Given the description of an element on the screen output the (x, y) to click on. 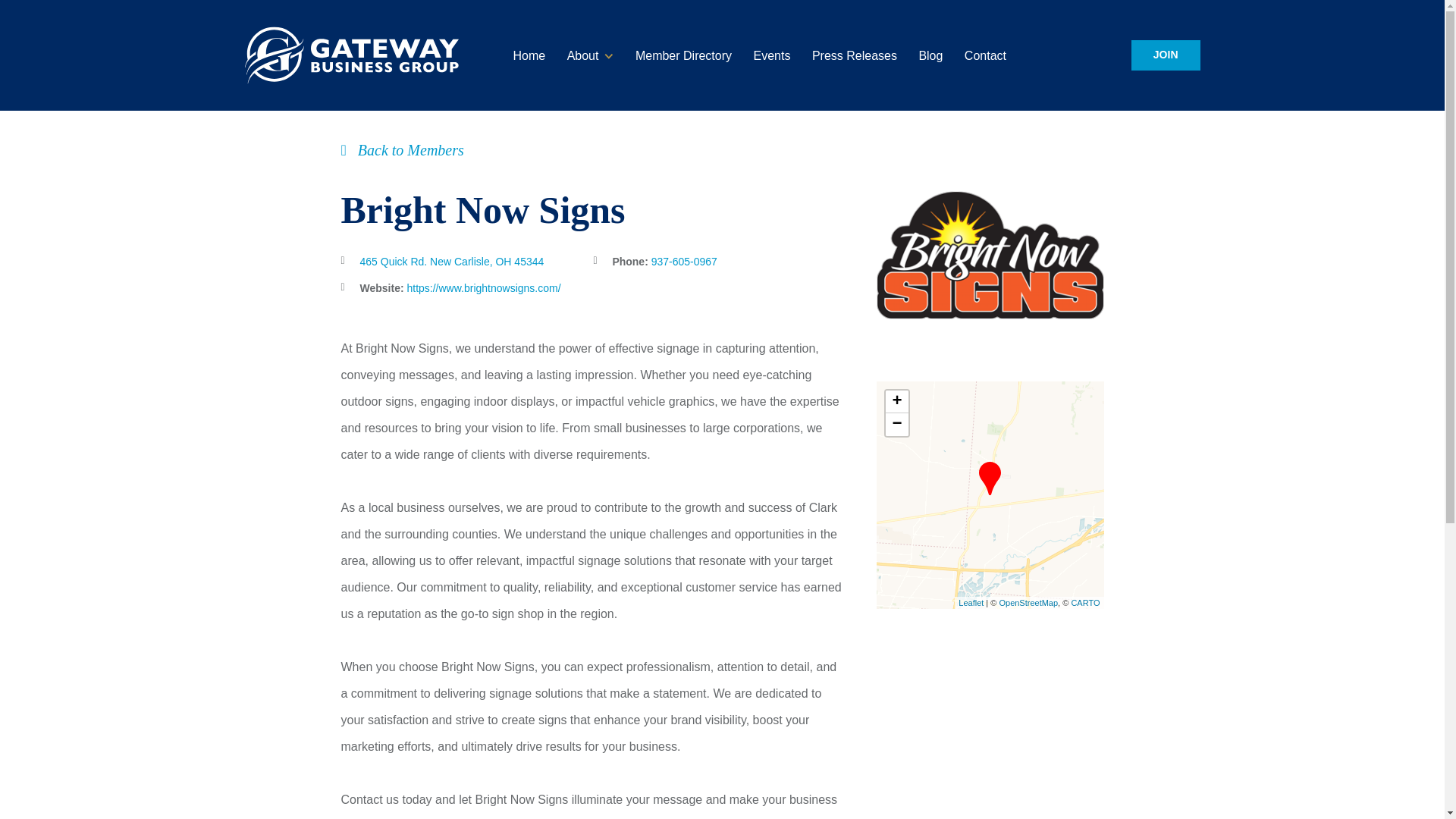
Blog (930, 55)
JOIN (1165, 55)
About (582, 55)
Events (772, 55)
A JS library for interactive maps (971, 601)
Back to Members (402, 149)
465 Quick Rd. New Carlisle, OH 45344 (451, 261)
OpenStreetMap (1028, 601)
Leaflet (971, 601)
Home (528, 55)
Member Directory (683, 55)
CARTO (1084, 601)
937-605-0967 (683, 261)
Press Releases (854, 55)
Zoom in (896, 401)
